Given the description of an element on the screen output the (x, y) to click on. 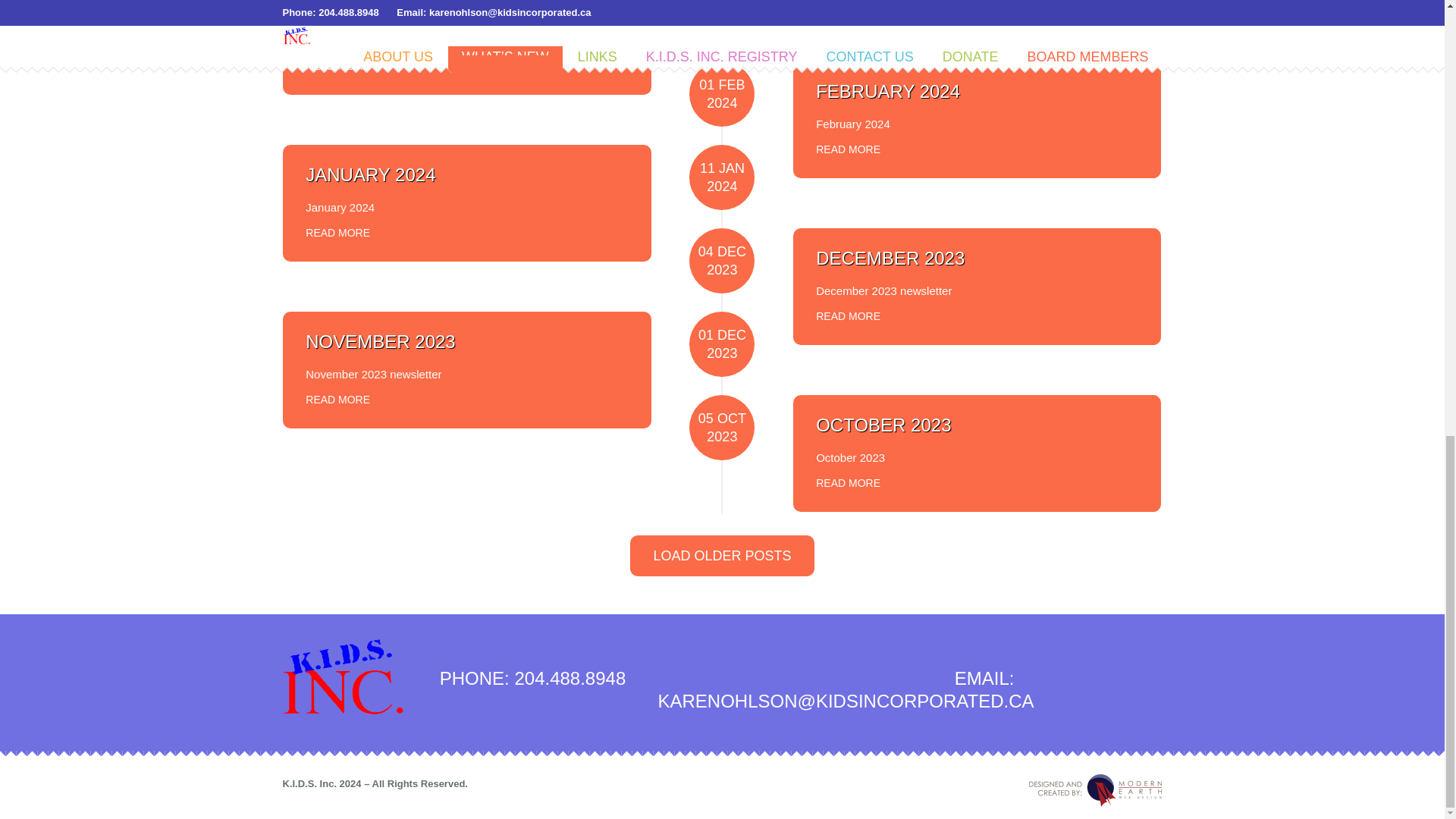
READ MORE (337, 228)
READ MORE (847, 478)
READ MORE (847, 145)
MARCH 2024 NEWSLETTER (426, 9)
READ MORE (337, 395)
LOAD OLDER POSTS (721, 555)
READ MORE (847, 312)
NOVEMBER 2023 (379, 341)
OCTOBER 2023 (882, 424)
DECEMBER 2023 (889, 258)
FEBRUARY 2024 (887, 91)
JANUARY 2024 (370, 174)
READ MORE (337, 61)
